Given the description of an element on the screen output the (x, y) to click on. 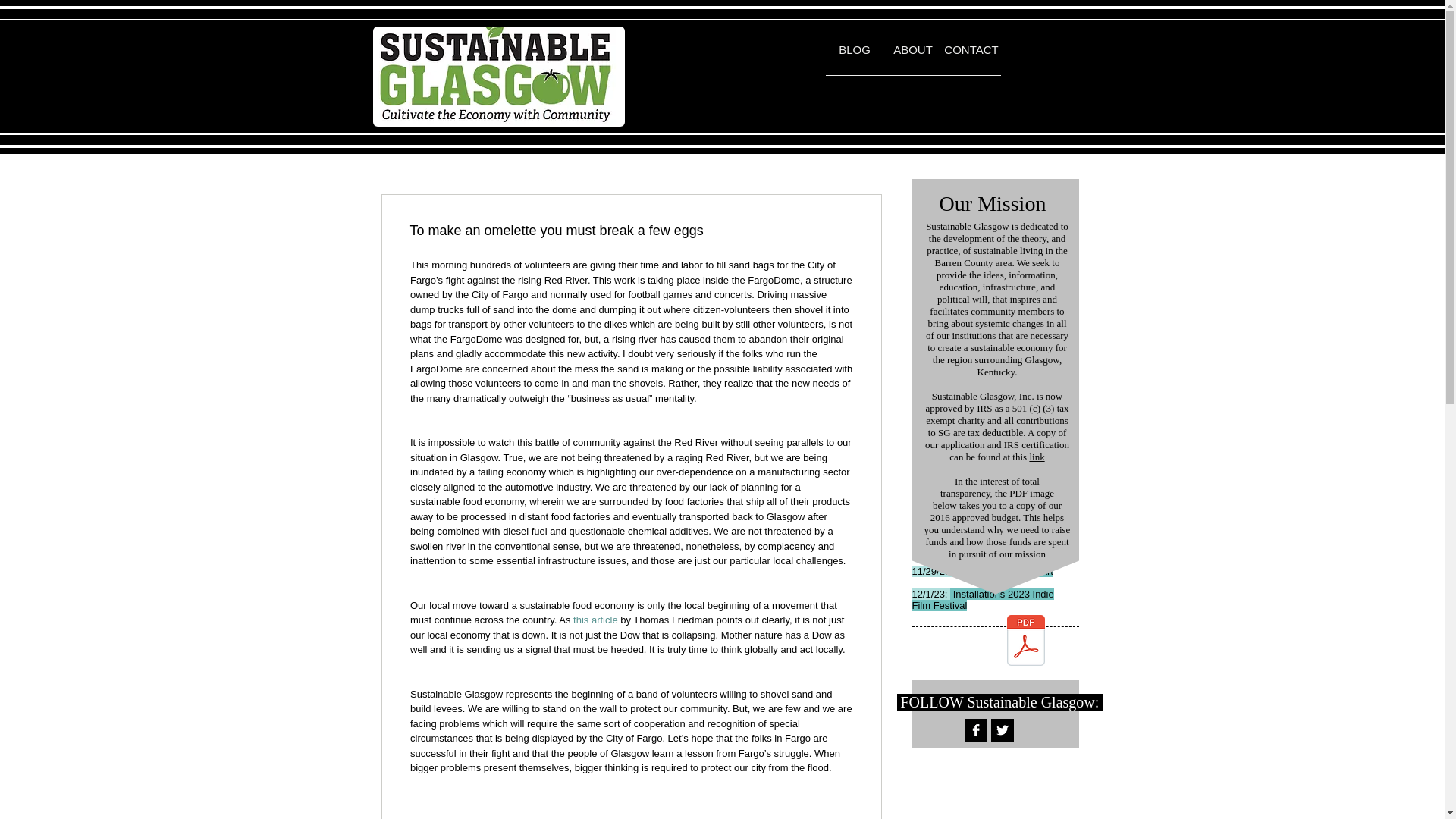
ABOUT (912, 49)
CONTACT (971, 49)
link (1036, 456)
BLOG (854, 49)
2016 approved budget (973, 517)
this article  (596, 619)
